Given the description of an element on the screen output the (x, y) to click on. 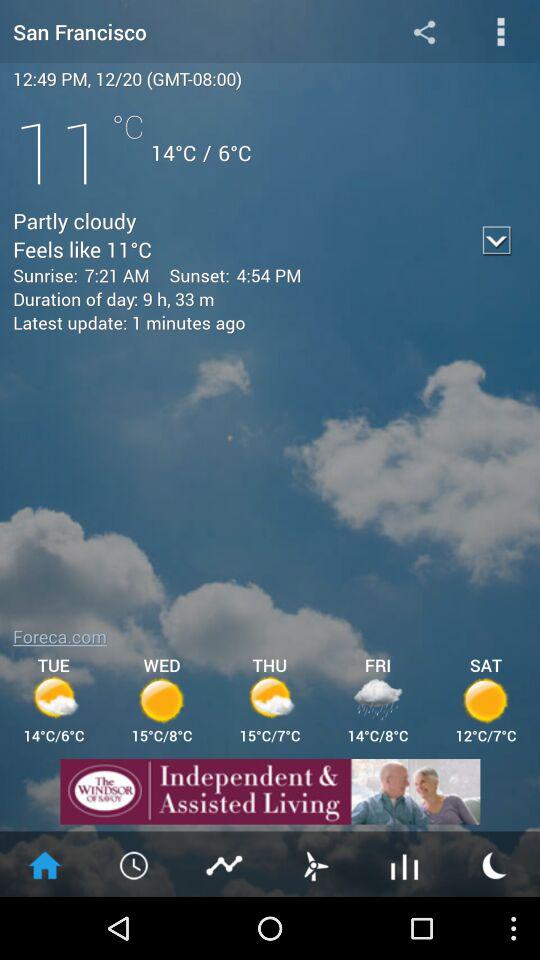
open drop down menu (500, 31)
